Given the description of an element on the screen output the (x, y) to click on. 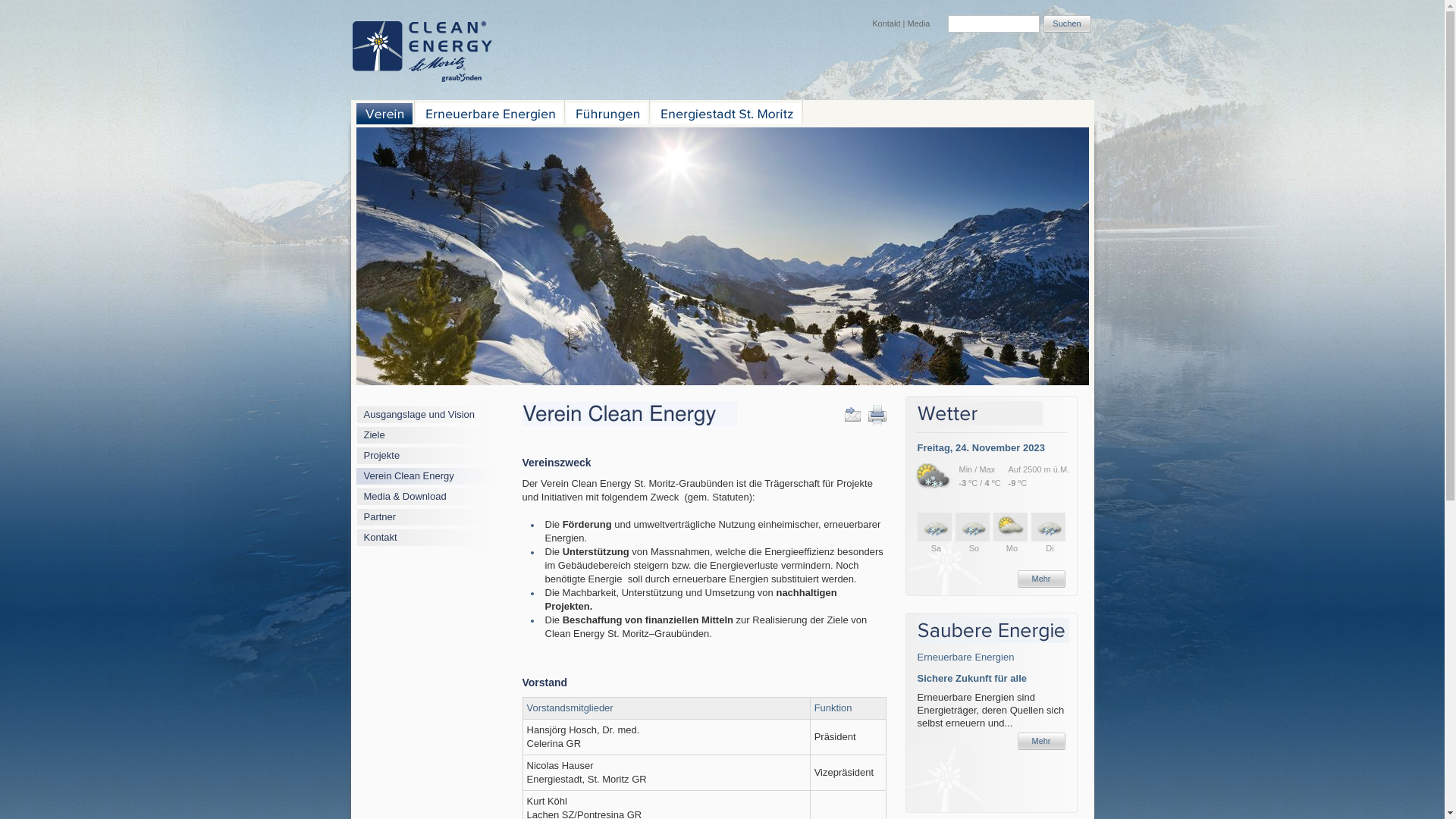
Kontakt Element type: text (380, 536)
Projekte Element type: text (382, 455)
Media & Download Element type: text (405, 496)
Verein Element type: text (384, 113)
Partner Element type: text (380, 516)
Seite drucken Element type: hover (876, 413)
Suchen Element type: text (1067, 23)
Kontakt Element type: text (886, 23)
Ziele Element type: text (374, 434)
Mehr Element type: text (1041, 740)
Erneuerbare Energien Element type: text (965, 656)
Seite versenden Element type: hover (852, 413)
Mehr Element type: text (1041, 578)
Media Element type: text (918, 23)
Verein Clean Energy Element type: text (409, 475)
Erneuerbare Energien Element type: text (488, 113)
Energiestadt St. Moritz Element type: text (725, 113)
Ausgangslage und Vision Element type: text (419, 414)
